Given the description of an element on the screen output the (x, y) to click on. 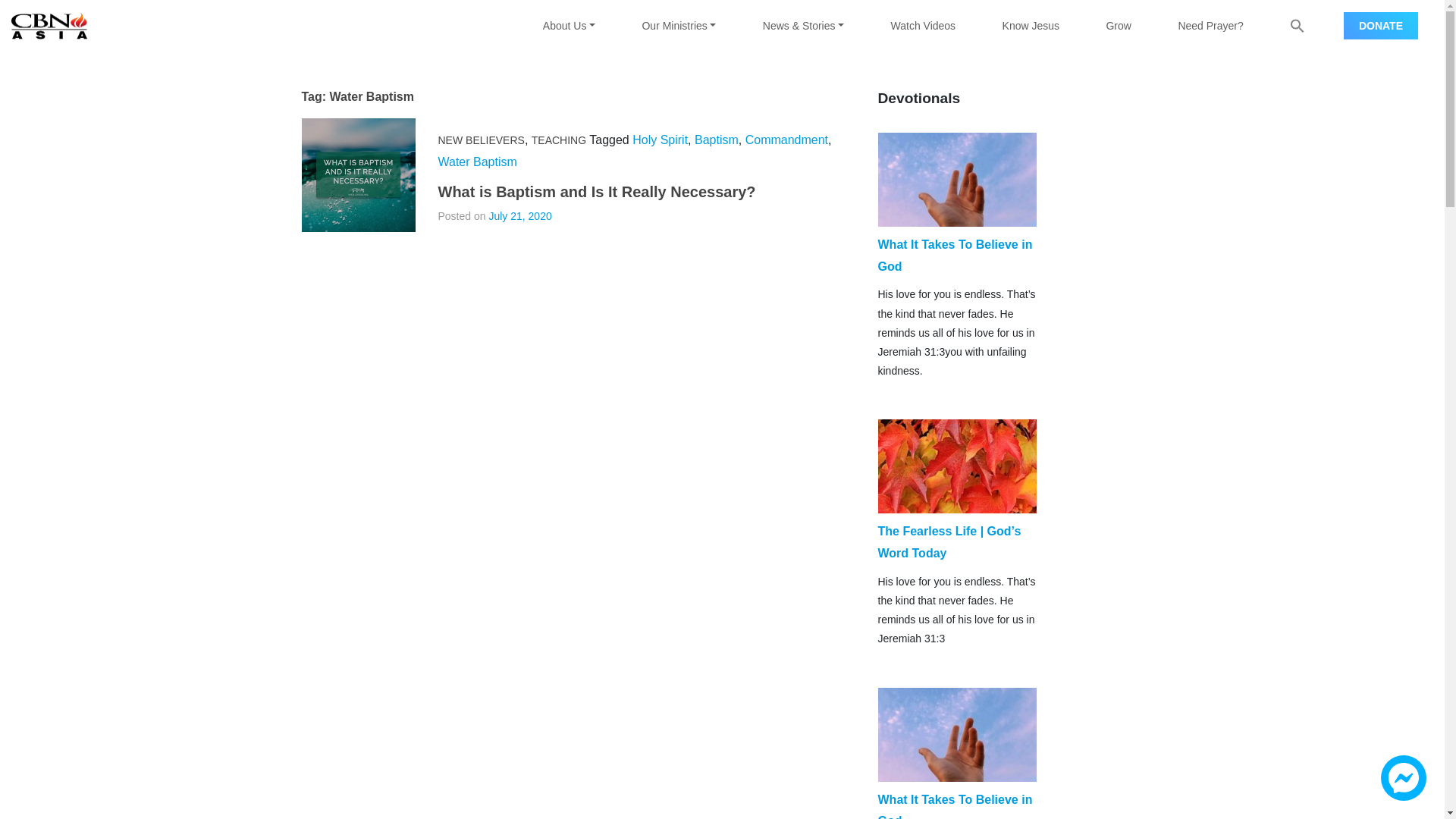
DONATE (1380, 25)
Grow (1118, 25)
TEACHING (558, 140)
What is Baptism and Is It Really Necessary? (596, 191)
NEW BELIEVERS (481, 140)
About Us (568, 25)
About Us (568, 25)
Our Ministries (678, 25)
July 21, 2020 (519, 215)
Need Prayer? (1210, 25)
Know Jesus (1030, 25)
Our Ministries (678, 25)
Watch Videos (922, 25)
